Given the description of an element on the screen output the (x, y) to click on. 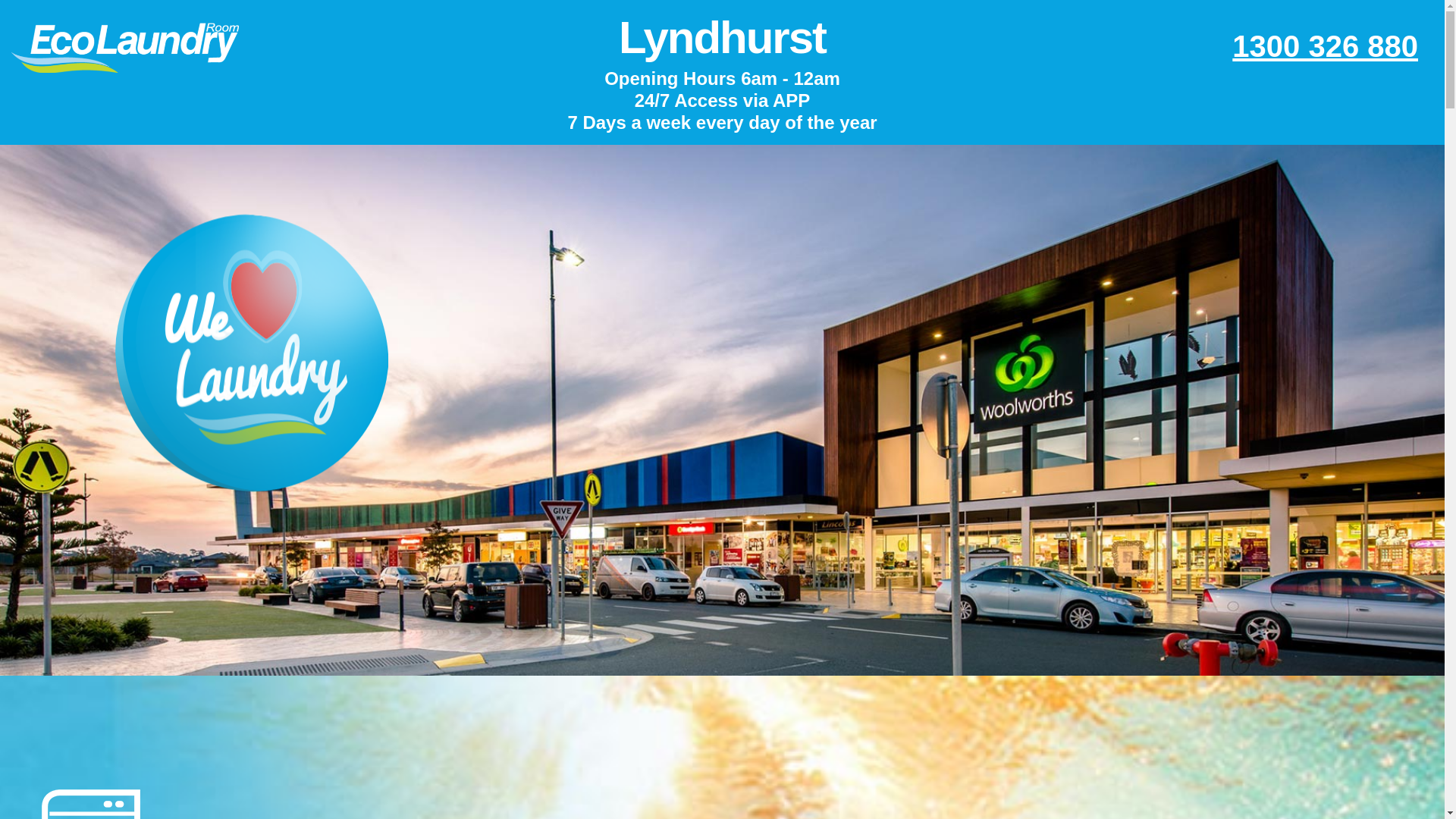
1300 326 880 (1324, 46)
Eco Laundry Room (124, 47)
